Given the description of an element on the screen output the (x, y) to click on. 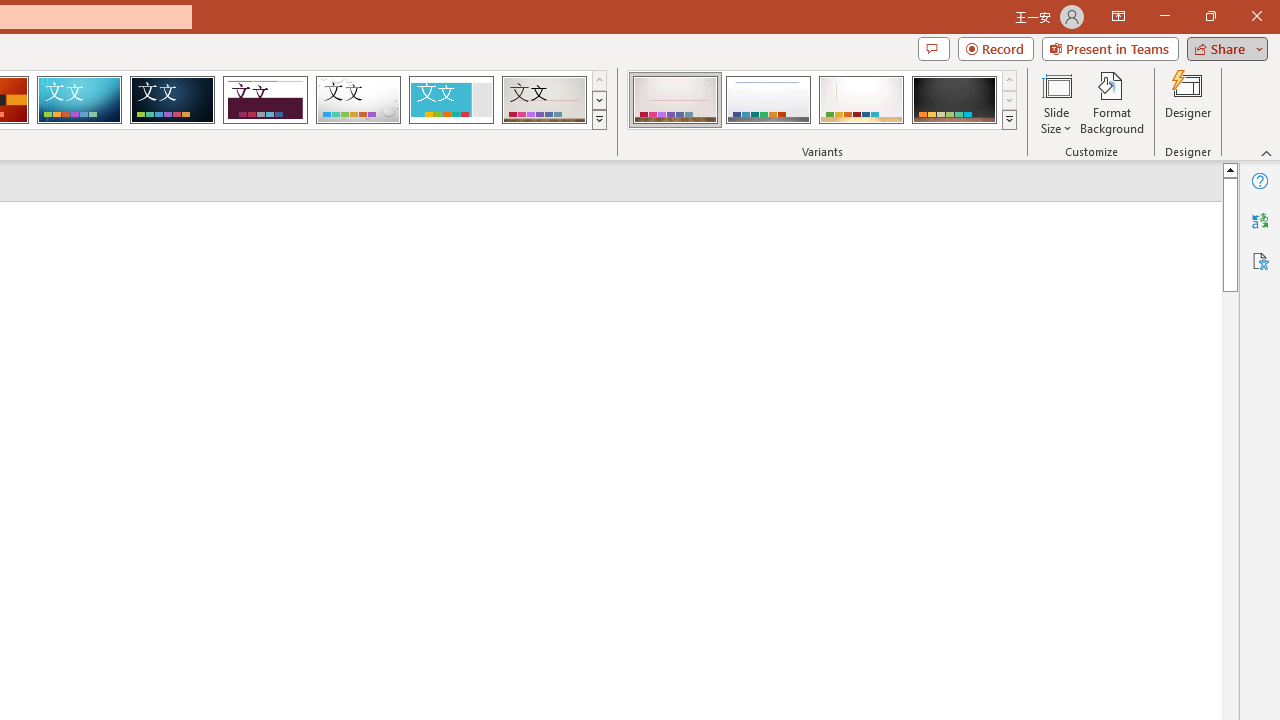
AutomationID: ThemeVariantsGallery (822, 99)
Gallery Variant 2 (768, 100)
Gallery Variant 1 (674, 100)
Damask (171, 100)
Droplet (358, 100)
Gallery Variant 3 (861, 100)
